Given the description of an element on the screen output the (x, y) to click on. 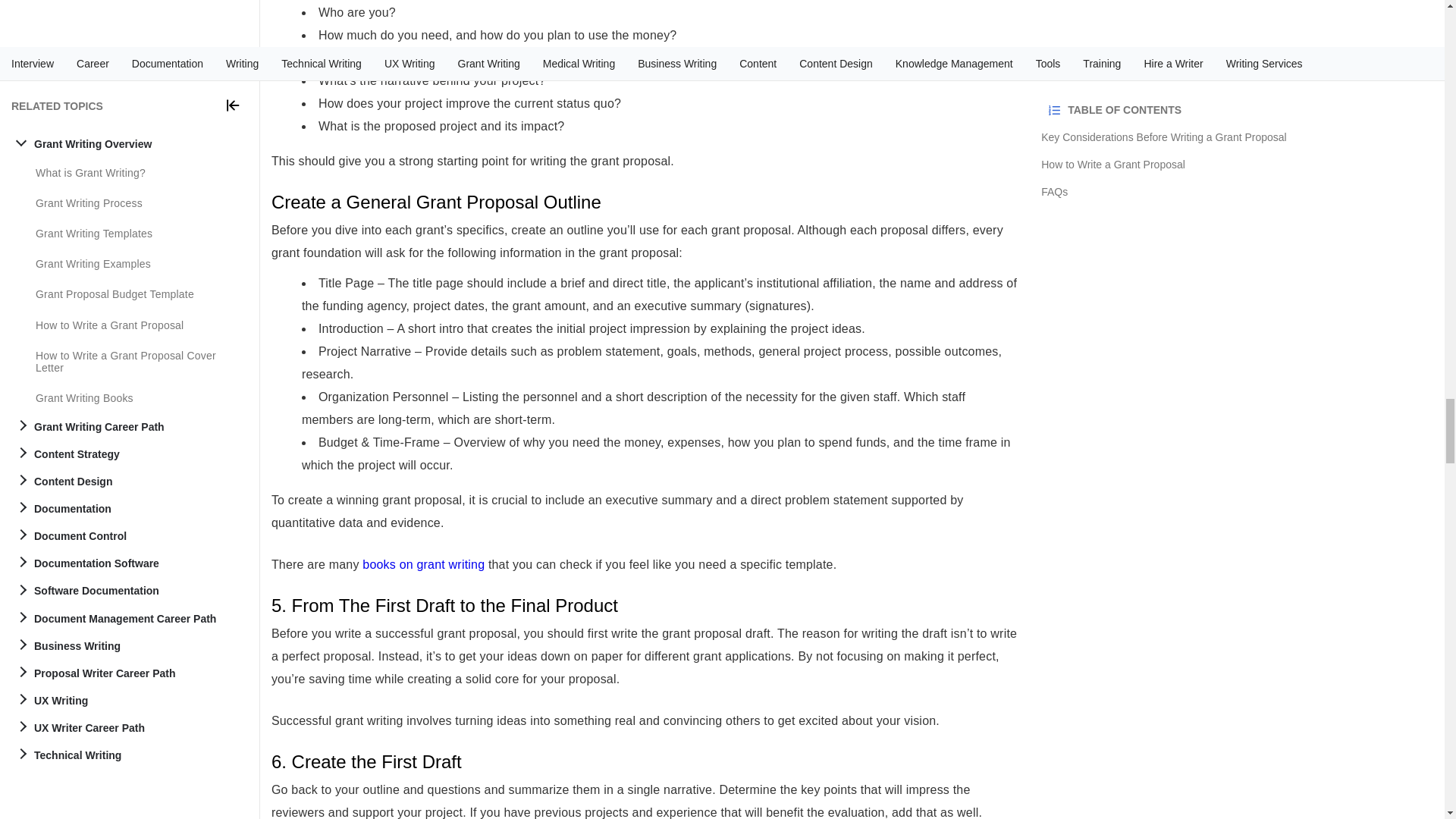
6. Create the First Draft (643, 762)
Create a General Grant Proposal Outline (643, 201)
5. From The First Draft to the Final Product (643, 605)
